Given the description of an element on the screen output the (x, y) to click on. 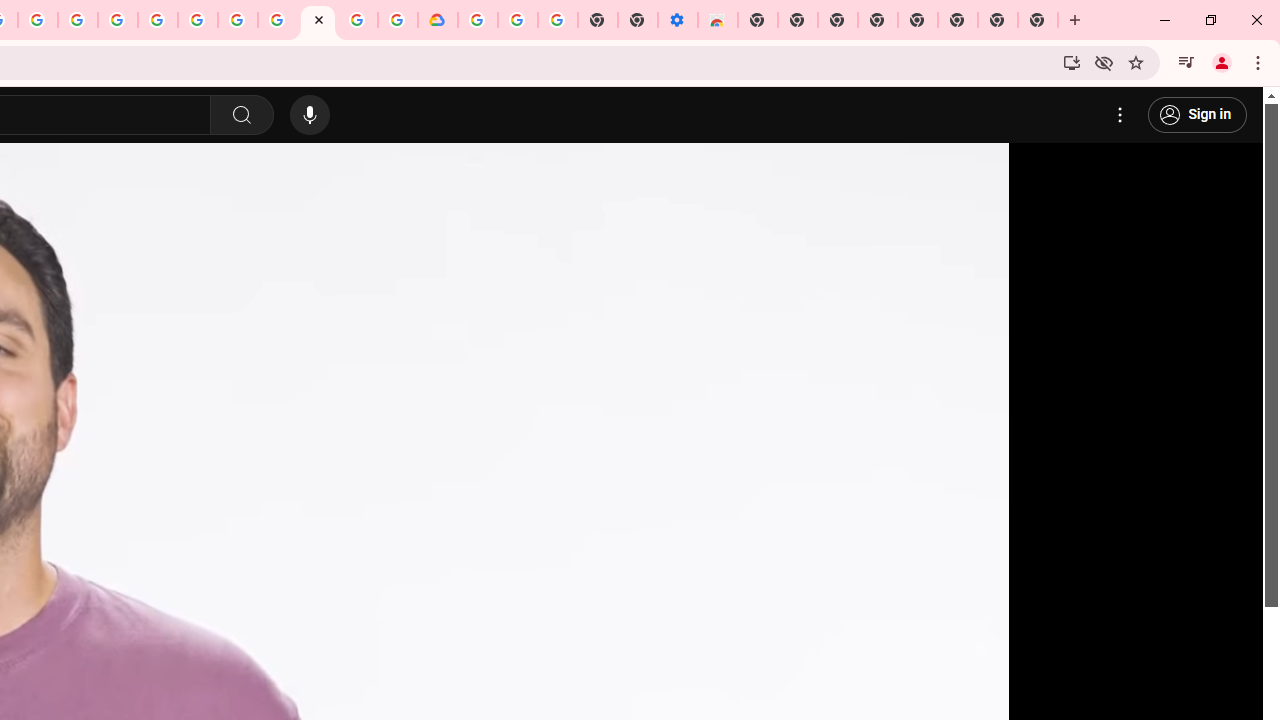
Browse the Google Chrome Community - Google Chrome Community (397, 20)
Install YouTube (1071, 62)
Chrome Web Store - Accessibility extensions (717, 20)
Control your music, videos, and more (1185, 62)
Settings (1119, 115)
New Tab (758, 20)
Ad Settings (118, 20)
Third-party cookies blocked (1103, 62)
Search (240, 115)
Settings - Accessibility (677, 20)
